Given the description of an element on the screen output the (x, y) to click on. 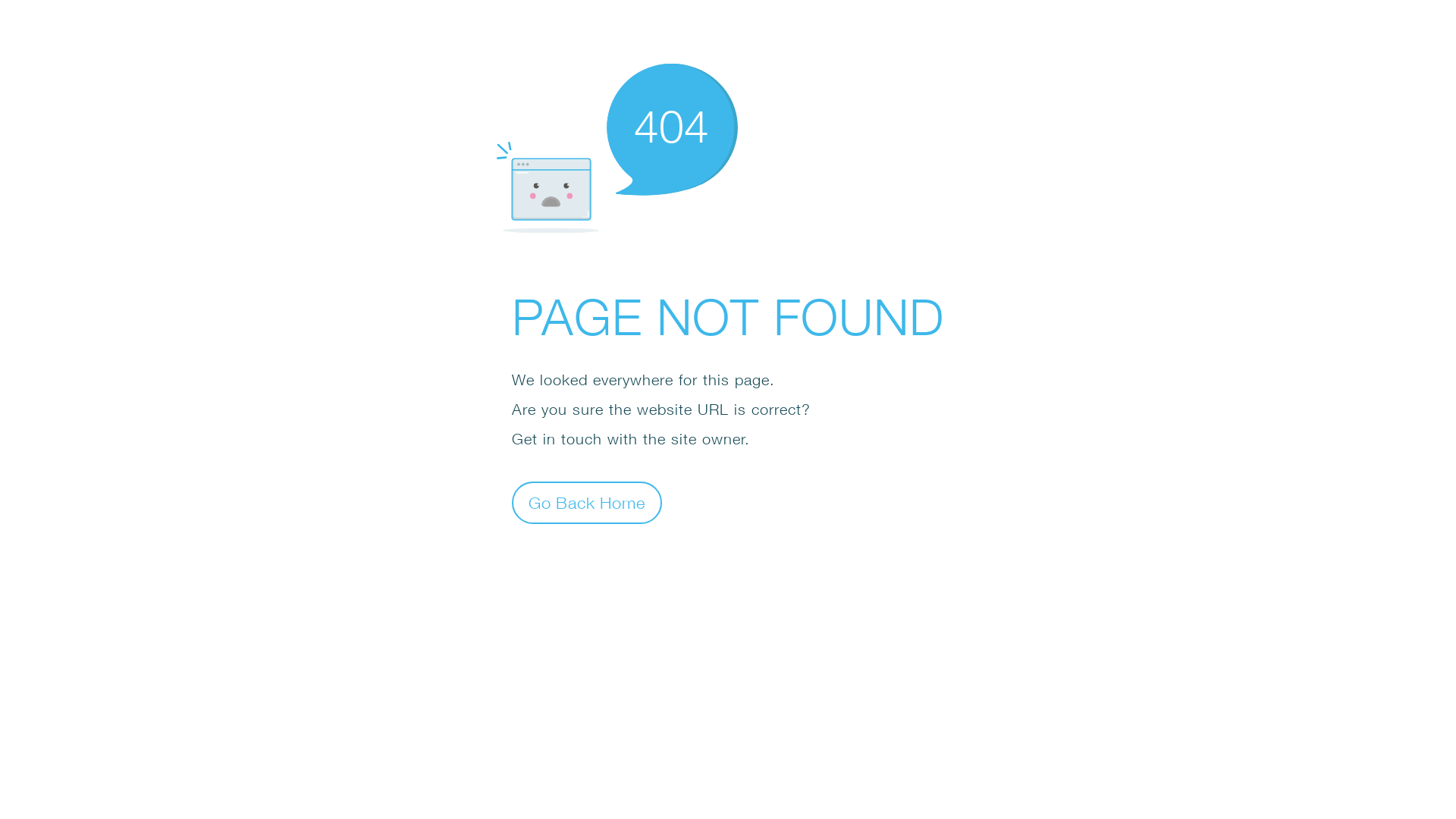
Go Back Home Element type: text (586, 502)
